Given the description of an element on the screen output the (x, y) to click on. 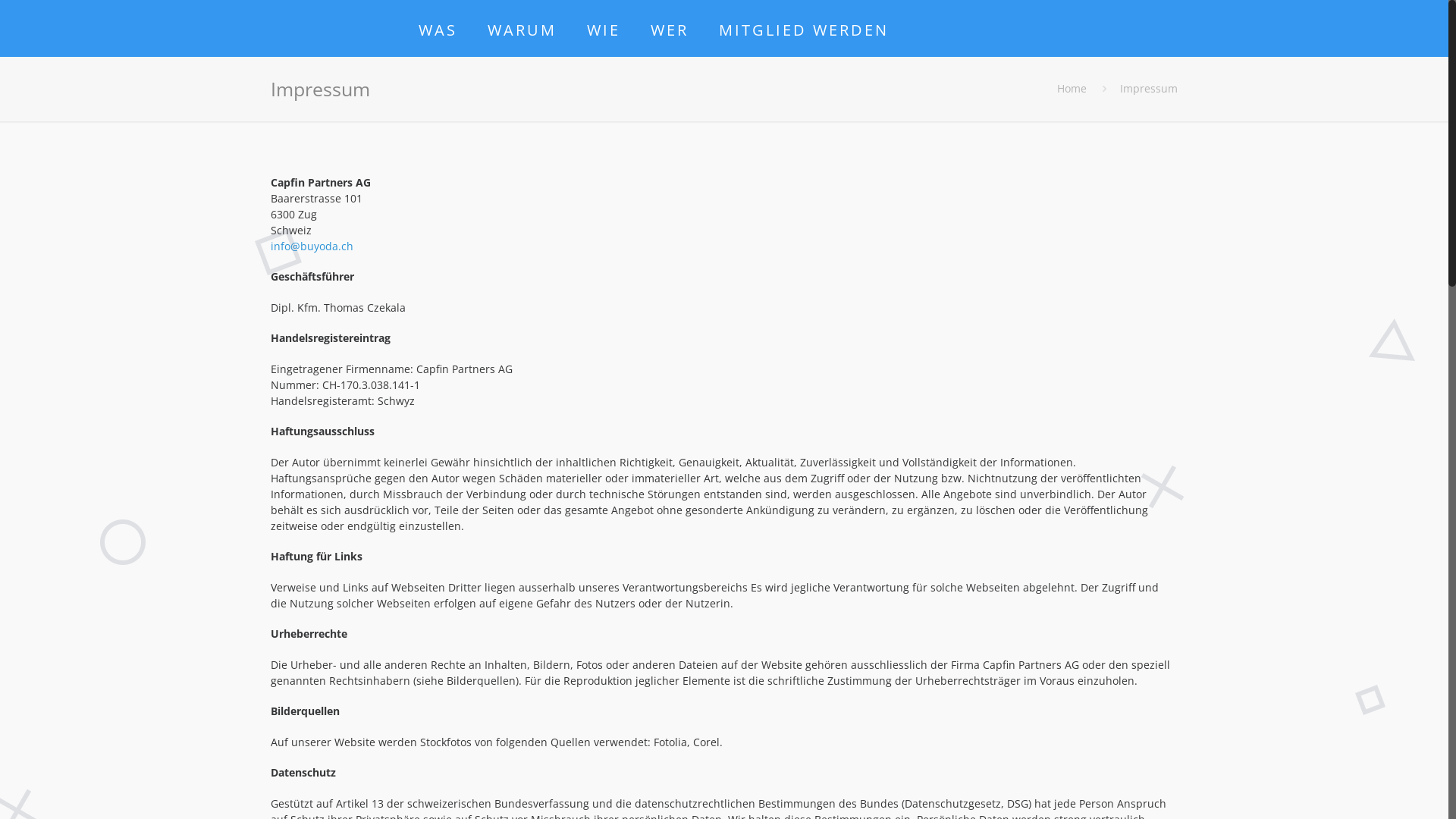
info@buyoda.ch Element type: text (311, 245)
Home Element type: text (1071, 88)
